Given the description of an element on the screen output the (x, y) to click on. 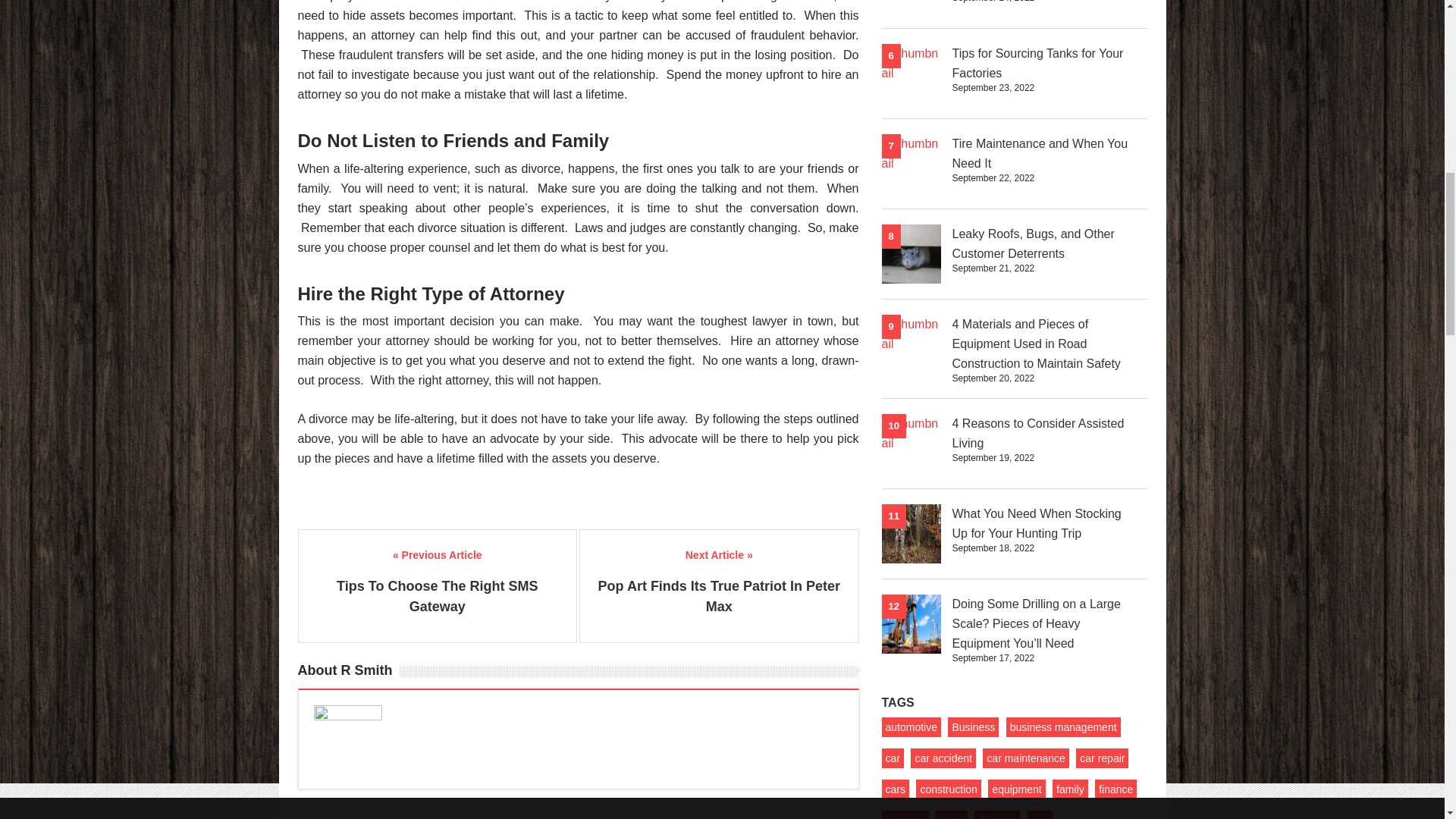
Pop Art Finds Its True Patriot In Peter Max (719, 596)
Tips To Choose The Right SMS Gateway (436, 596)
